Given the description of an element on the screen output the (x, y) to click on. 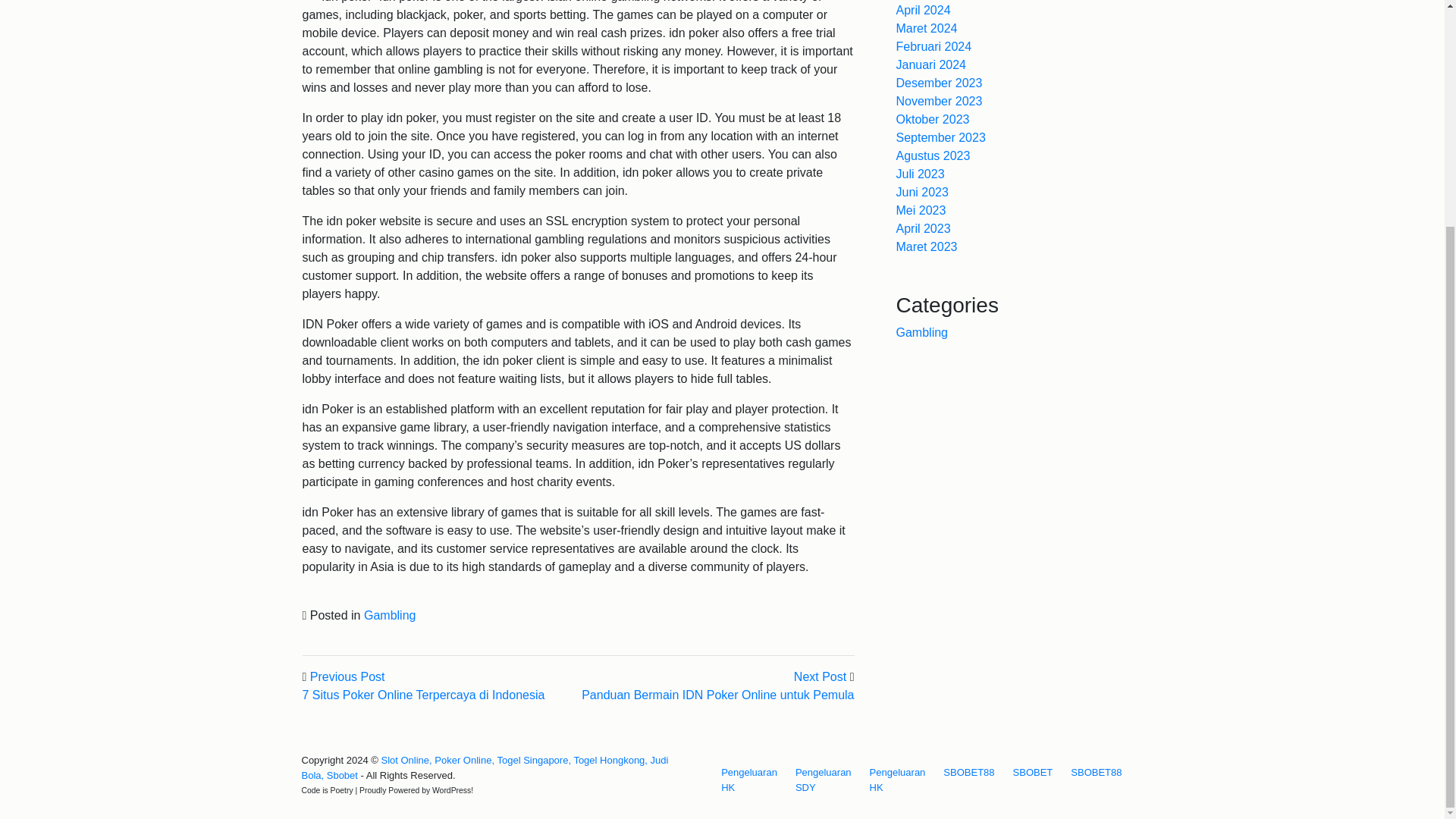
Pengeluaran HK (897, 779)
SBOBET (1033, 772)
April 2024 (923, 10)
SBOBET88 (968, 772)
SBOBET88 (968, 772)
Maret 2024 (927, 28)
Februari 2024 (934, 46)
Gambling (921, 332)
